Given the description of an element on the screen output the (x, y) to click on. 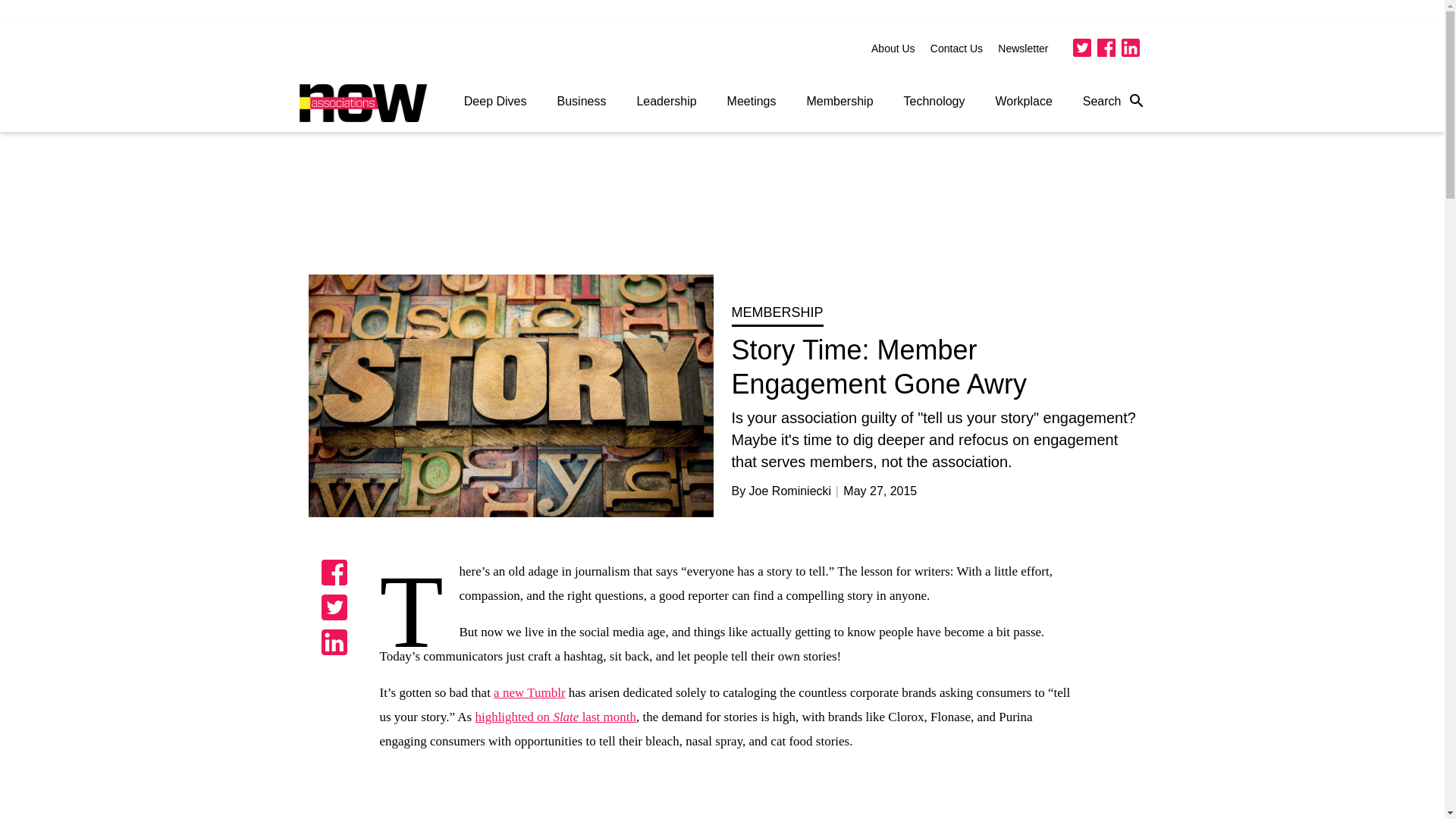
3rd party ad content (722, 210)
Visit us onFacebook (1105, 47)
Visit us onLinkedIn (1129, 47)
Share (334, 606)
Facebook (1105, 47)
Workplace (1023, 101)
Share (334, 642)
Newsletter (1022, 48)
Membership (840, 101)
LinkedIn (1129, 47)
Technology (933, 101)
Twitter (1080, 47)
Deep Dives (494, 101)
Visit us onTwitter (1080, 47)
About Us (892, 48)
